Given the description of an element on the screen output the (x, y) to click on. 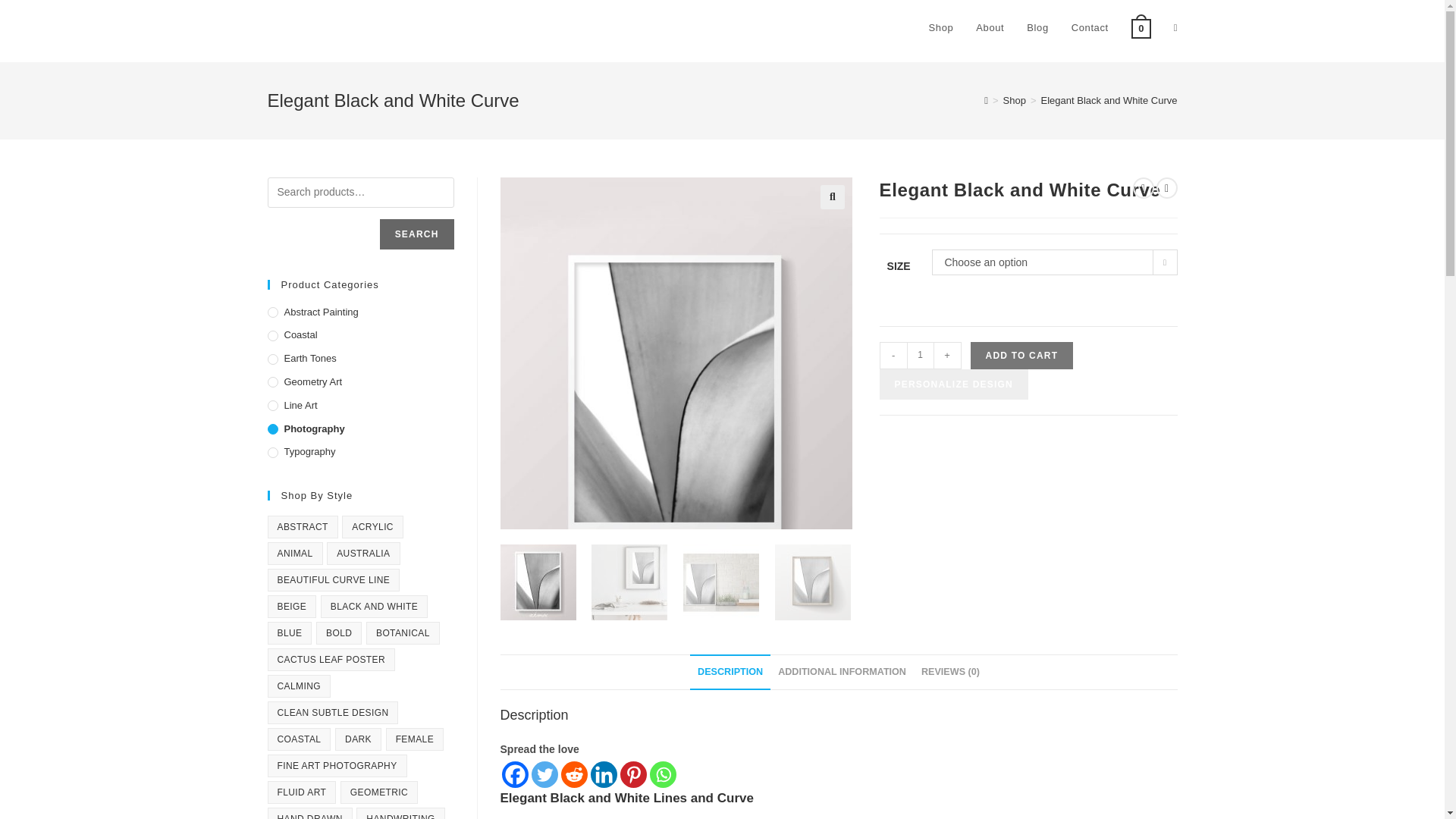
PERSONALIZE DESIGN (953, 384)
Shop (1014, 100)
DESCRIPTION (730, 672)
- (893, 355)
Elegant Black and White Curve (1109, 100)
1 (920, 355)
About (988, 28)
nature35-listing4 (931, 186)
Contact (1089, 28)
